Given the description of an element on the screen output the (x, y) to click on. 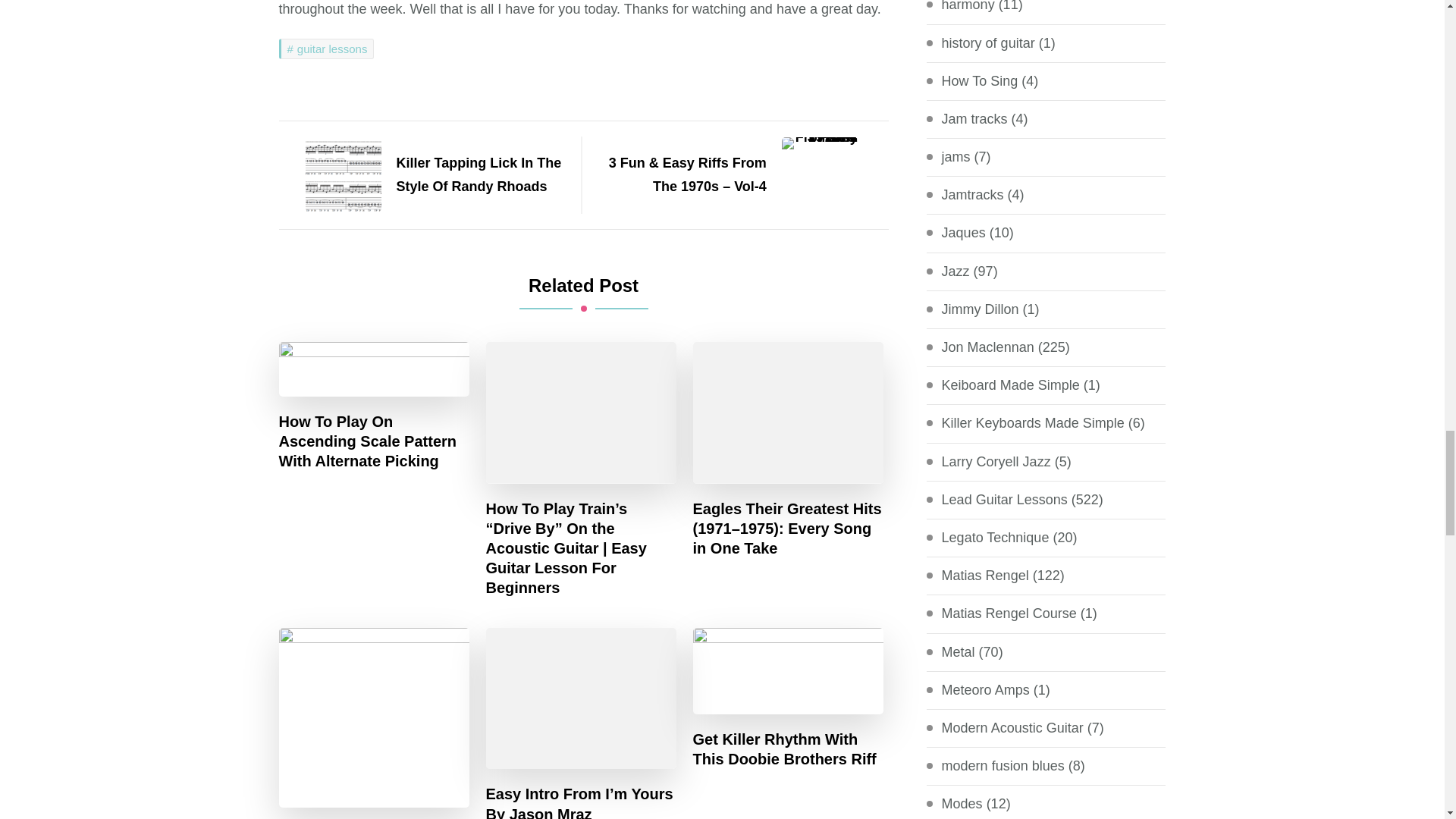
guitar lessons (326, 48)
Killer Tapping Lick In The Style Of Randy Rhoads (421, 174)
Get Killer Rhythm With This Doobie Brothers Riff (788, 749)
